Given the description of an element on the screen output the (x, y) to click on. 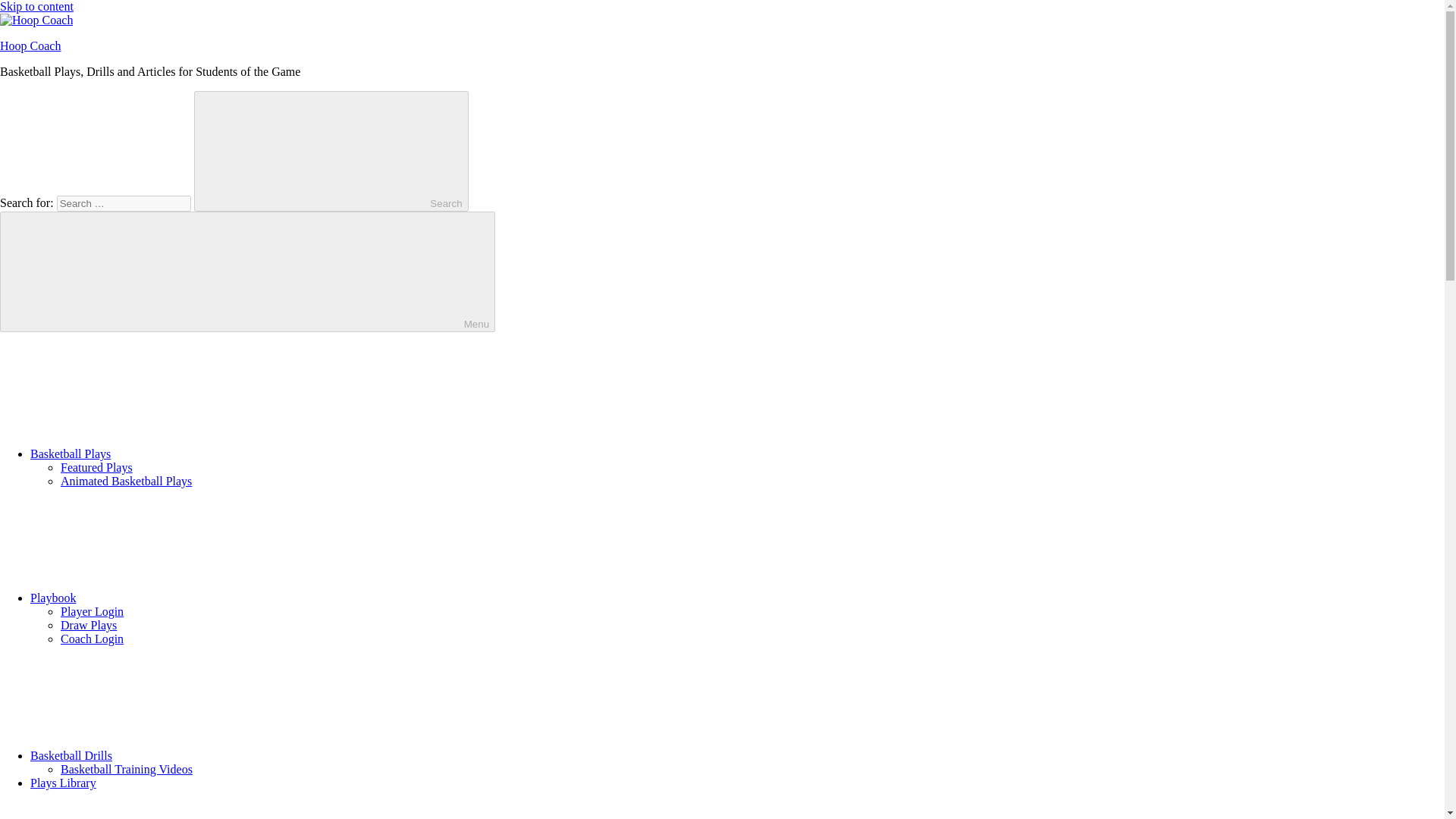
Skip to content (37, 6)
Basketball Plays (183, 453)
Basketball Drills (184, 755)
Featured Plays (96, 467)
Coach Login (92, 638)
Basketball Plays (183, 453)
Animated Basketball Plays (126, 481)
Search for: (123, 203)
Draw Plays (88, 625)
Basketball Training Videos (126, 768)
Menu (247, 271)
Plays Library (63, 782)
Hoop Coach (30, 45)
Player Login (92, 611)
Search (330, 150)
